Given the description of an element on the screen output the (x, y) to click on. 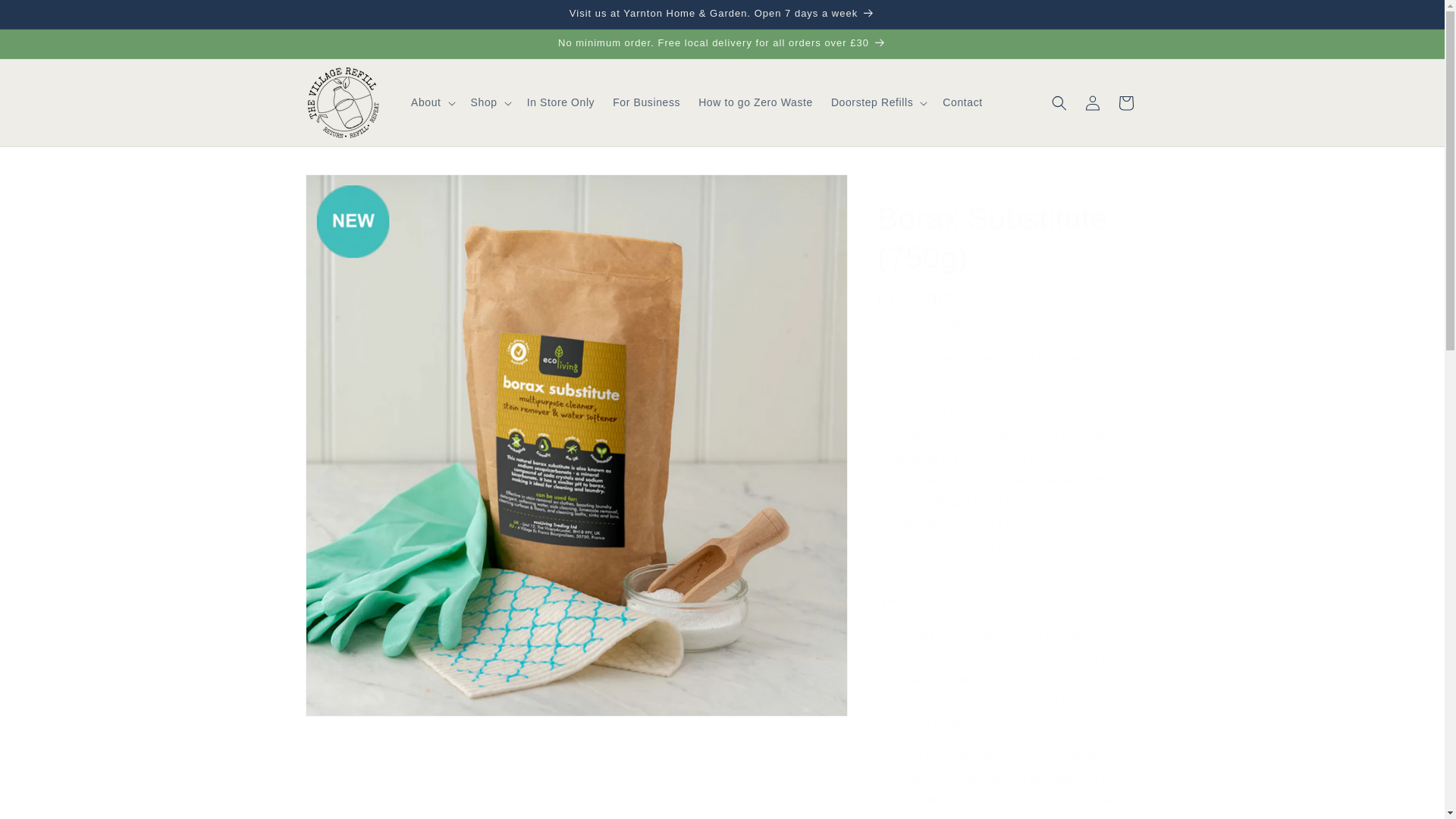
Skip to content (45, 17)
